Given the description of an element on the screen output the (x, y) to click on. 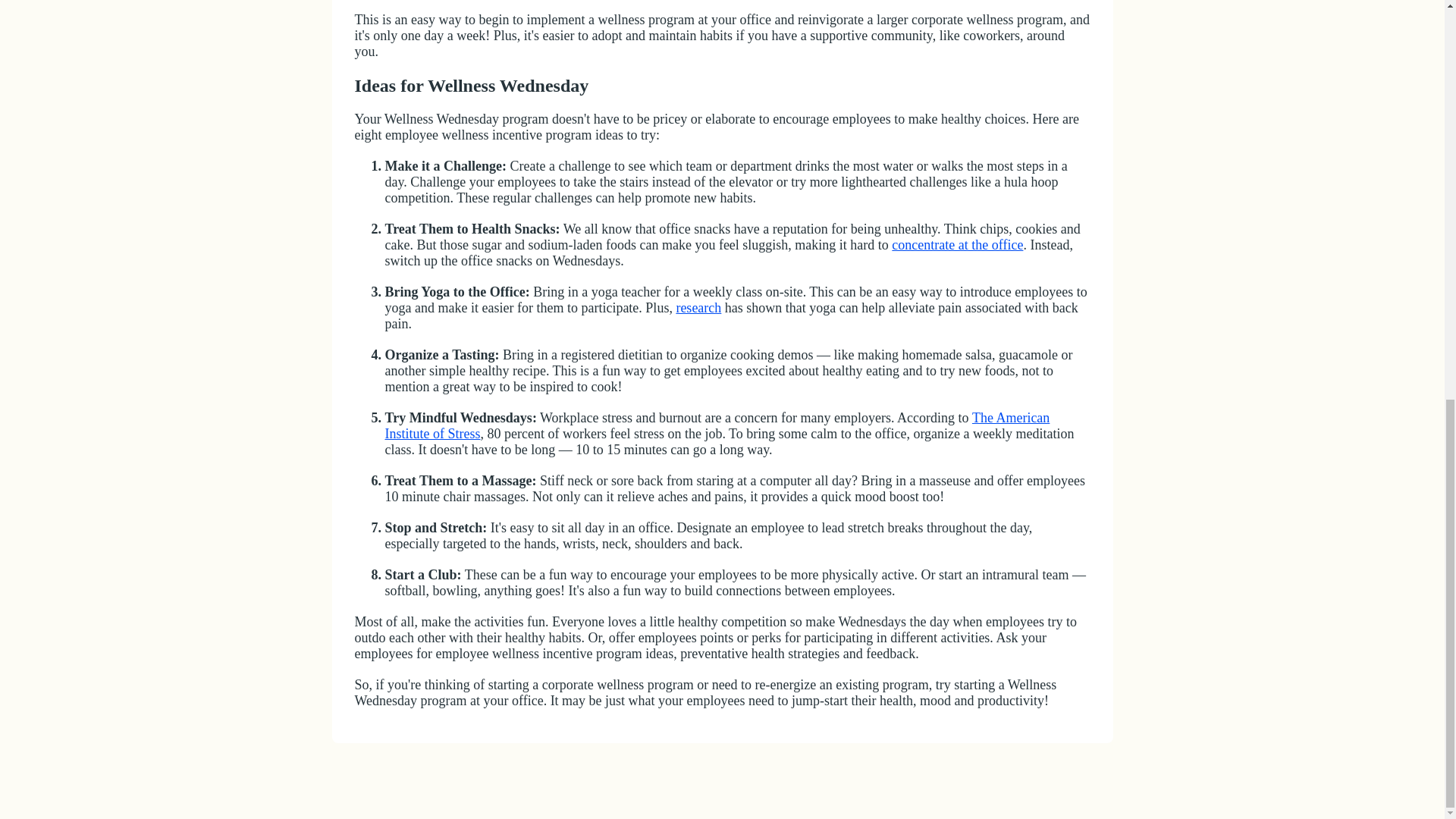
The American Institute of Stress (717, 425)
concentrate at the office (957, 244)
research (697, 307)
